Given the description of an element on the screen output the (x, y) to click on. 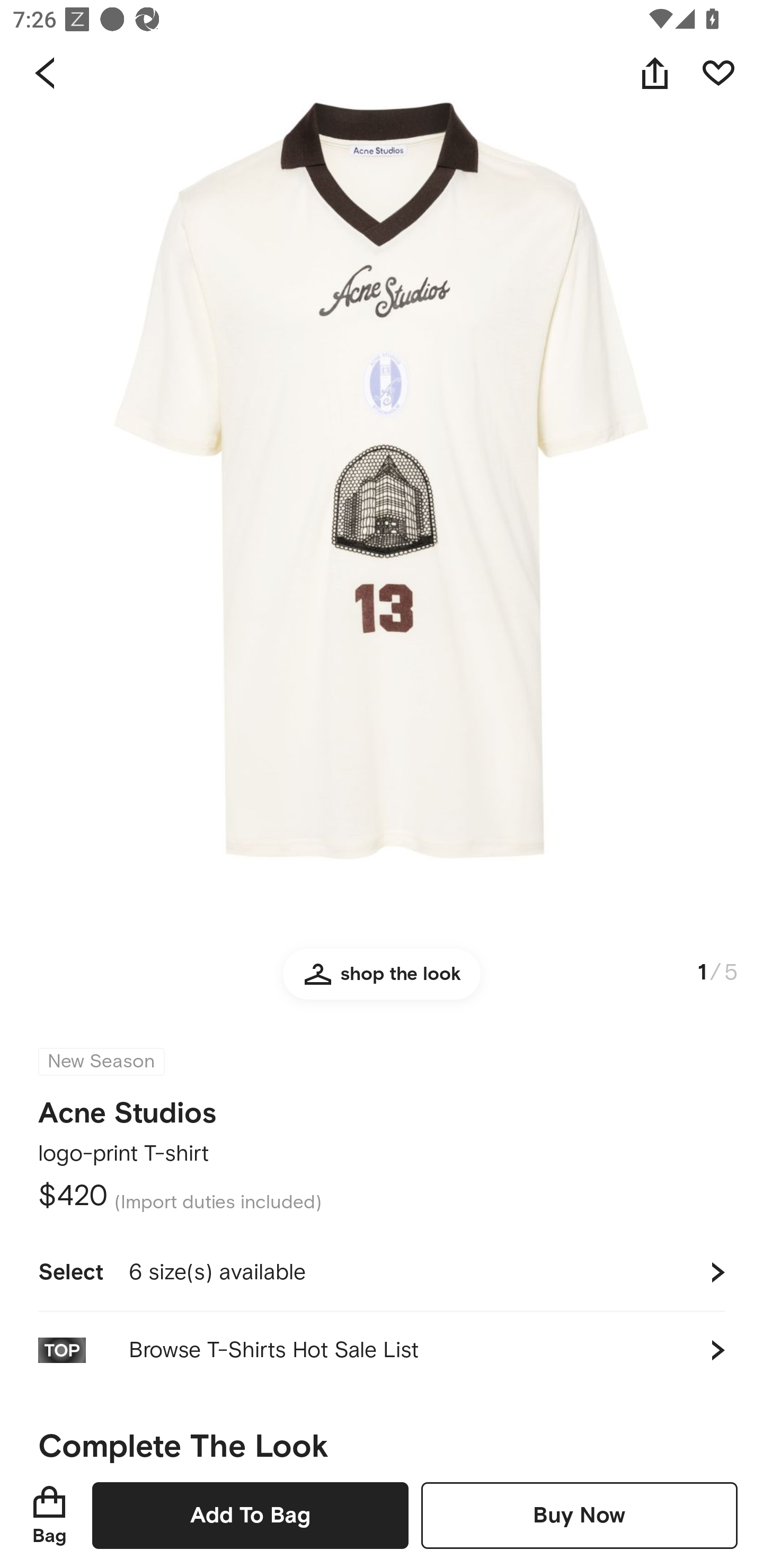
shop the look (381, 982)
Acne Studios (126, 1113)
Select 6 size(s) available (381, 1272)
Browse T-Shirts Hot Sale List (381, 1349)
Bag (49, 1515)
Add To Bag (250, 1515)
Buy Now (579, 1515)
